Given the description of an element on the screen output the (x, y) to click on. 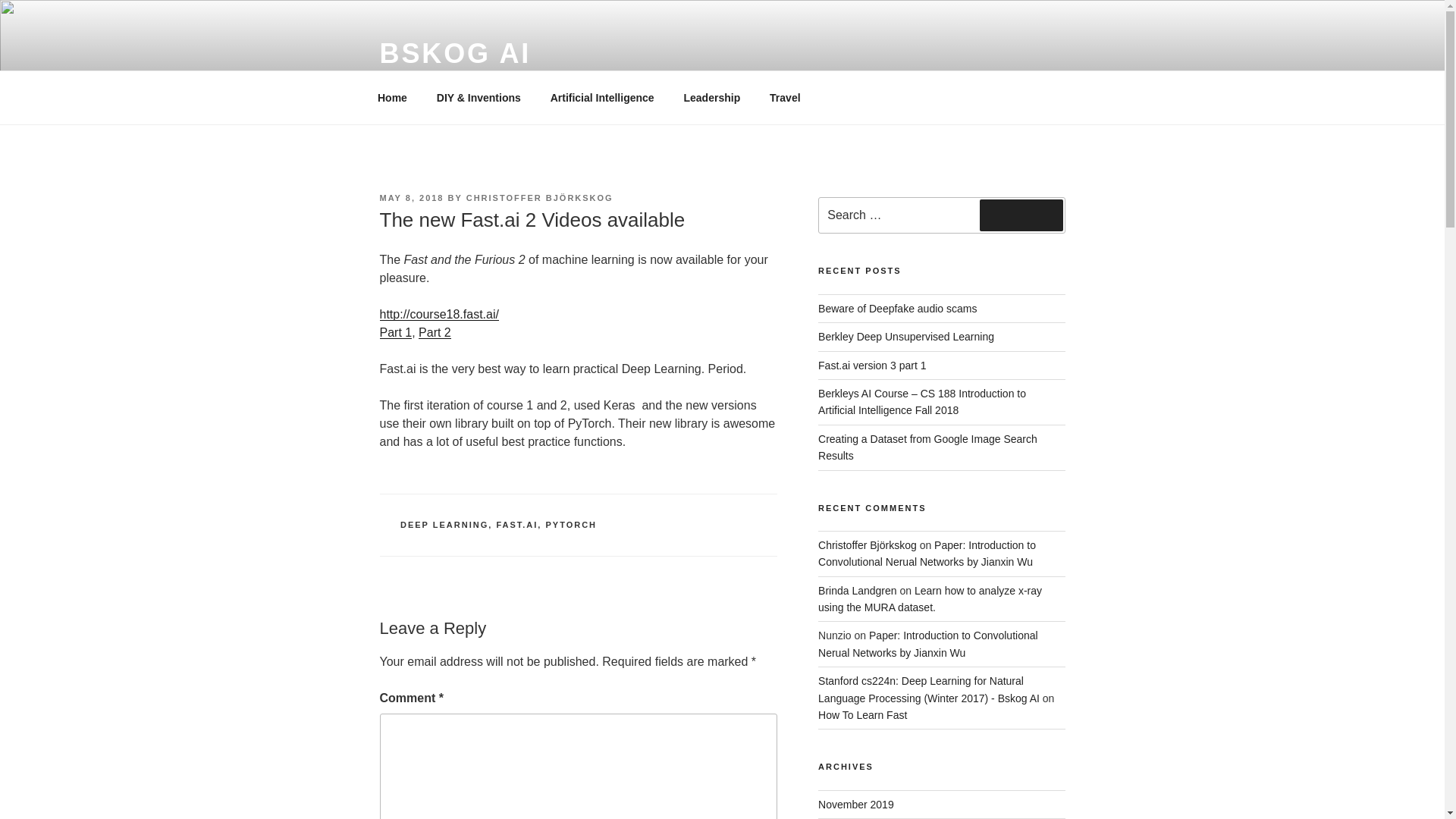
Part 2 (435, 332)
MAY 8, 2018 (411, 197)
Search (1020, 214)
DEEP LEARNING (443, 524)
Beware of Deepfake audio scams (897, 308)
Berkley Deep Unsupervised Learning (906, 336)
Home (392, 97)
Artificial Intelligence (601, 97)
Creating a Dataset from Google Image Search Results (927, 447)
Part 1 (395, 332)
